Given the description of an element on the screen output the (x, y) to click on. 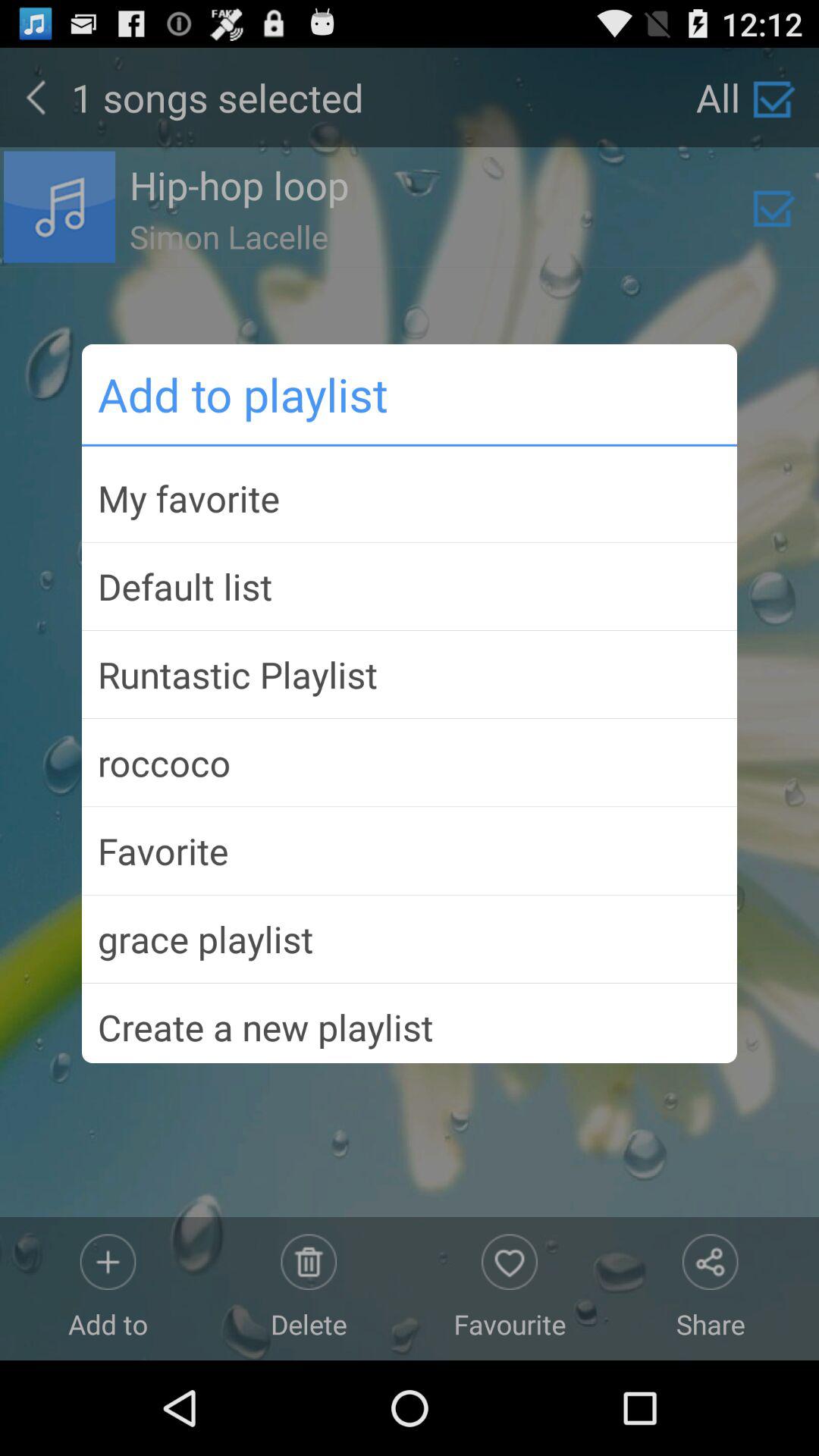
select the icon below the my favorite icon (409, 586)
